Given the description of an element on the screen output the (x, y) to click on. 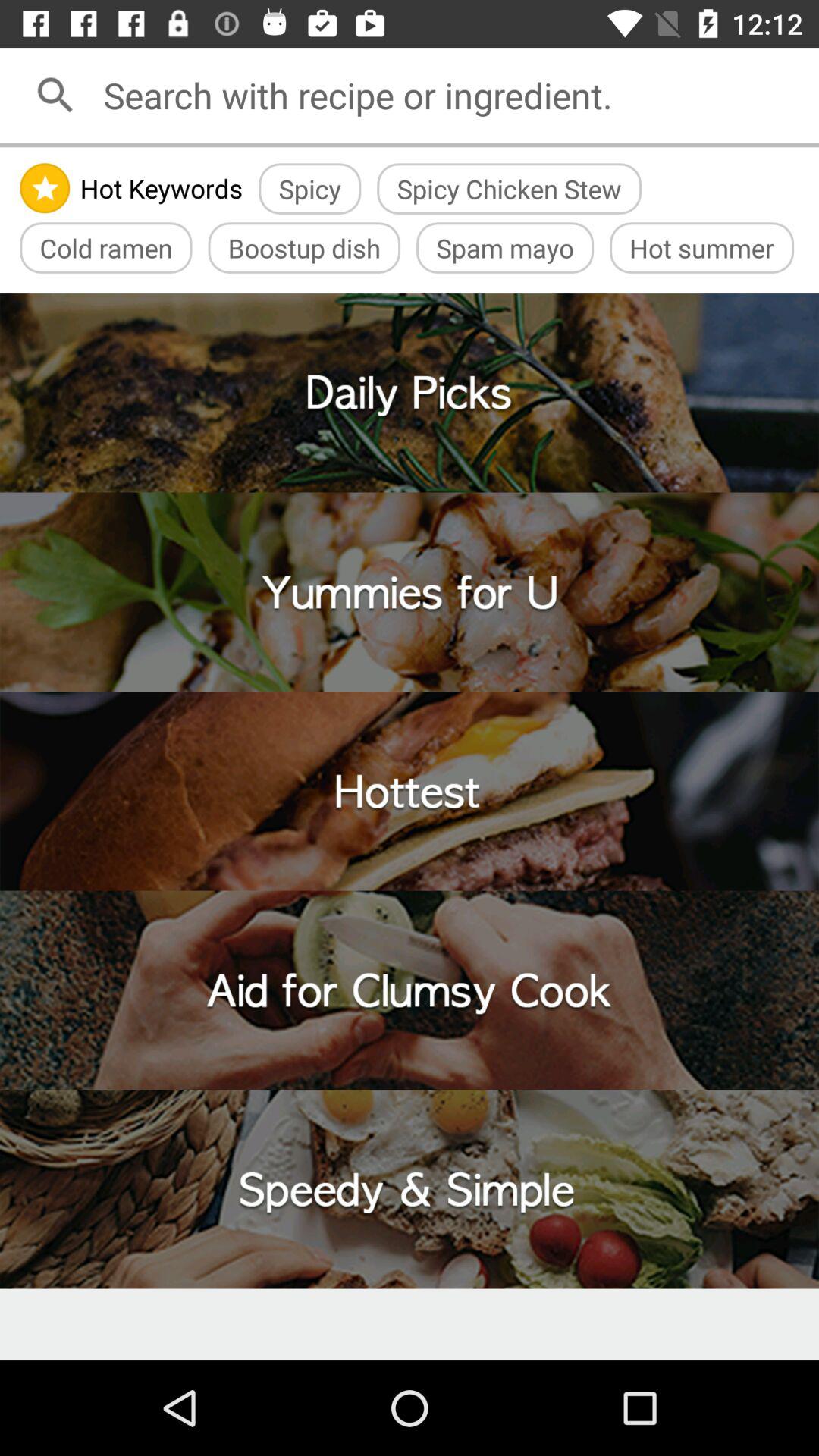
type recipe or ingredient query (455, 95)
